Given the description of an element on the screen output the (x, y) to click on. 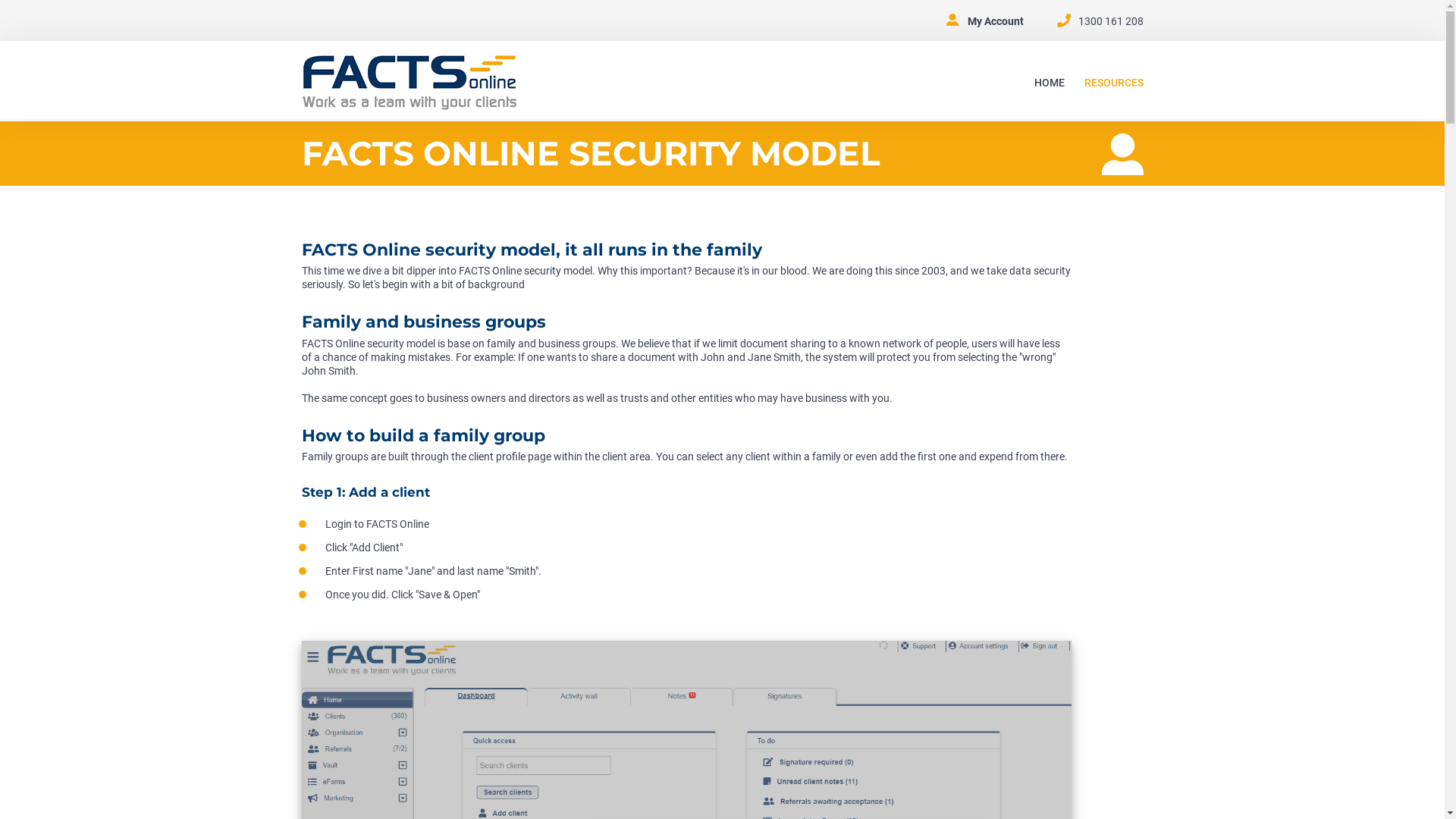
RESOURCES Element type: text (1113, 82)
HOME Element type: text (1049, 82)
My Account Element type: text (995, 21)
1300 161 208 Element type: text (1110, 21)
